Given the description of an element on the screen output the (x, y) to click on. 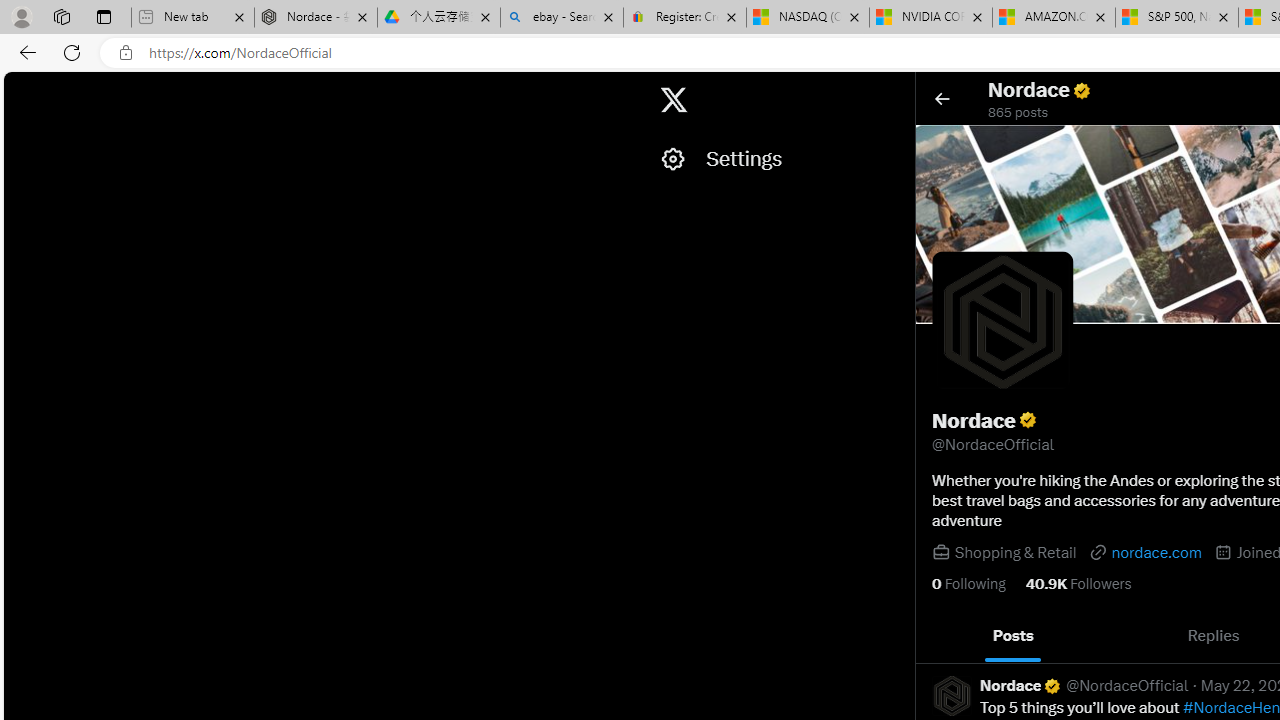
@NordaceOfficial (1127, 685)
nordace.com (1144, 552)
